Given the description of an element on the screen output the (x, y) to click on. 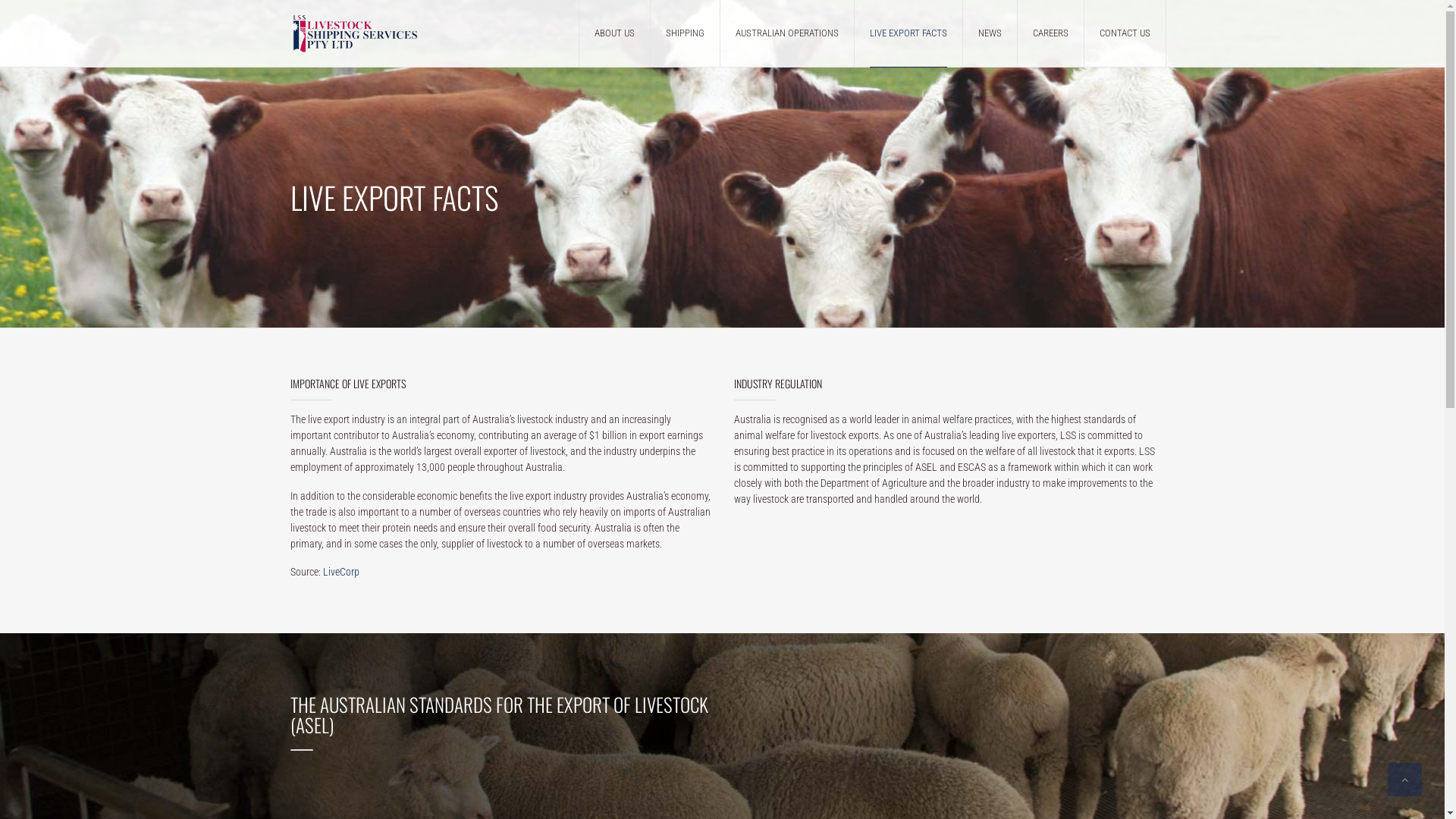
ABOUT US Element type: text (614, 33)
CONTACT US Element type: text (1124, 33)
CAREERS Element type: text (1050, 33)
SHIPPING Element type: text (684, 33)
LIVE EXPORT FACTS Element type: text (907, 33)
AUSTRALIAN OPERATIONS Element type: text (786, 33)
LiveCorp Element type: text (341, 571)
NEWS Element type: text (989, 33)
